Given the description of an element on the screen output the (x, y) to click on. 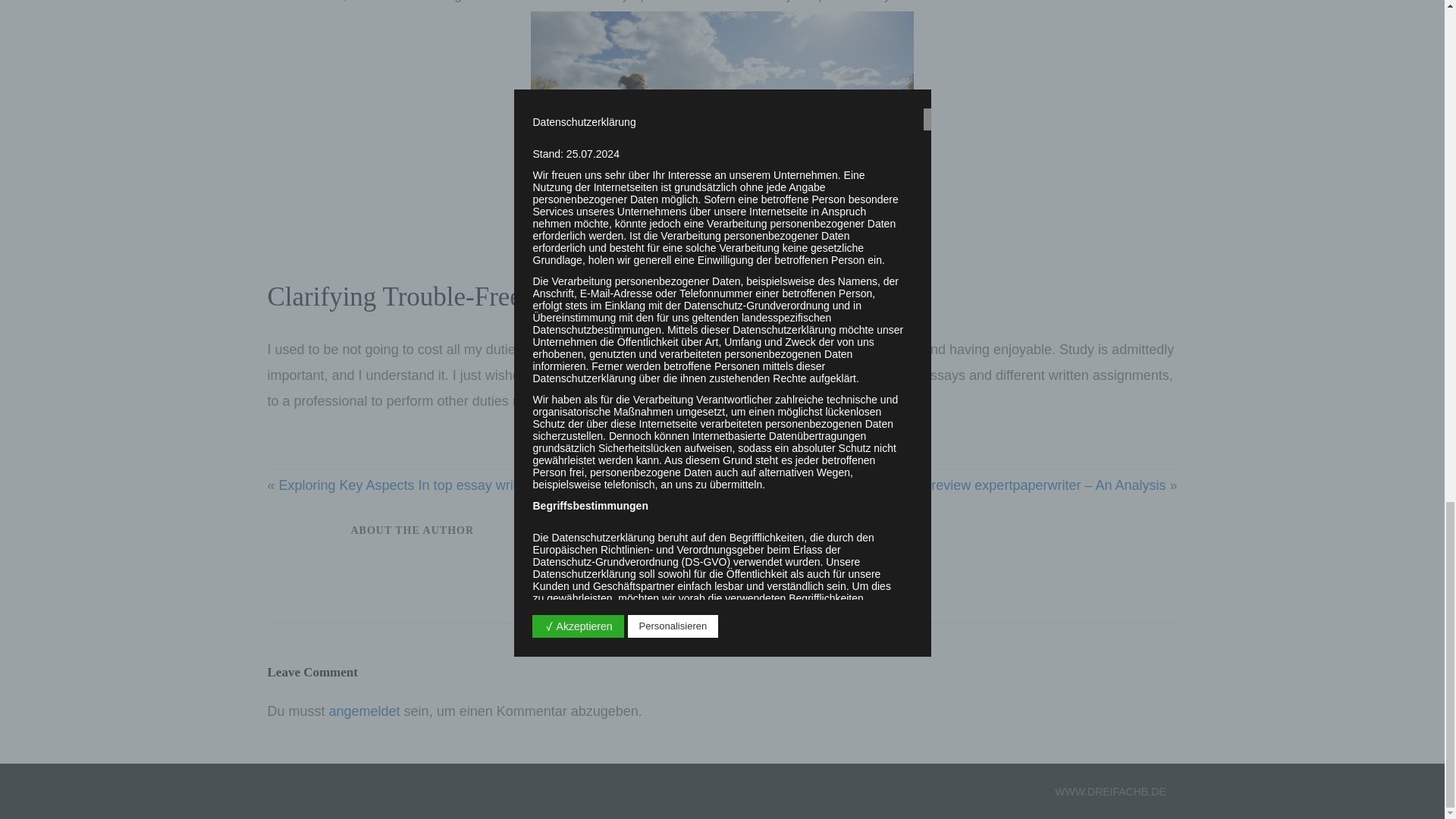
Exploring Key Aspects In top essay writing services (434, 485)
angemeldet (364, 711)
